Given the description of an element on the screen output the (x, y) to click on. 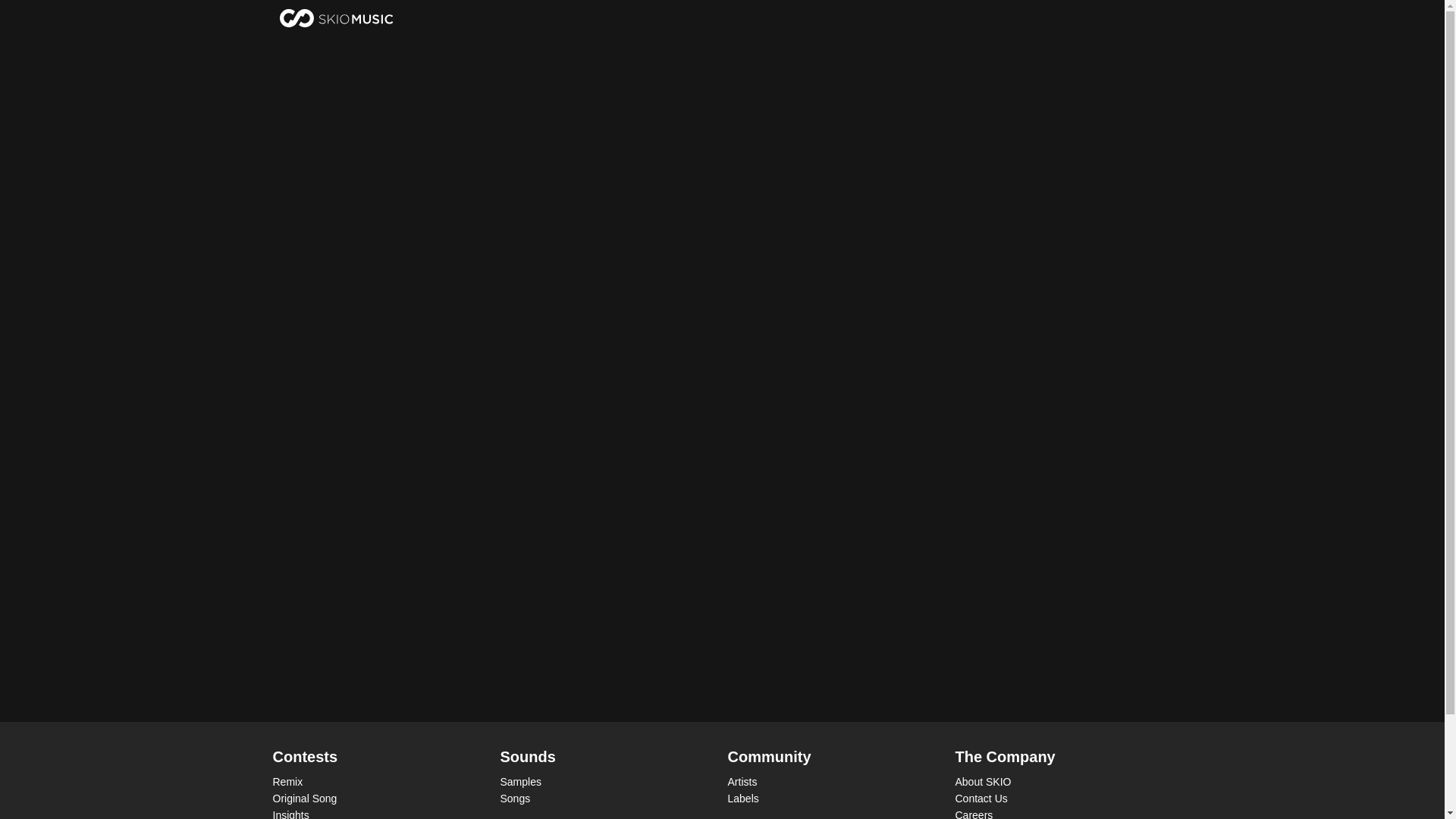
Original Song (375, 798)
Remix (375, 781)
